Given the description of an element on the screen output the (x, y) to click on. 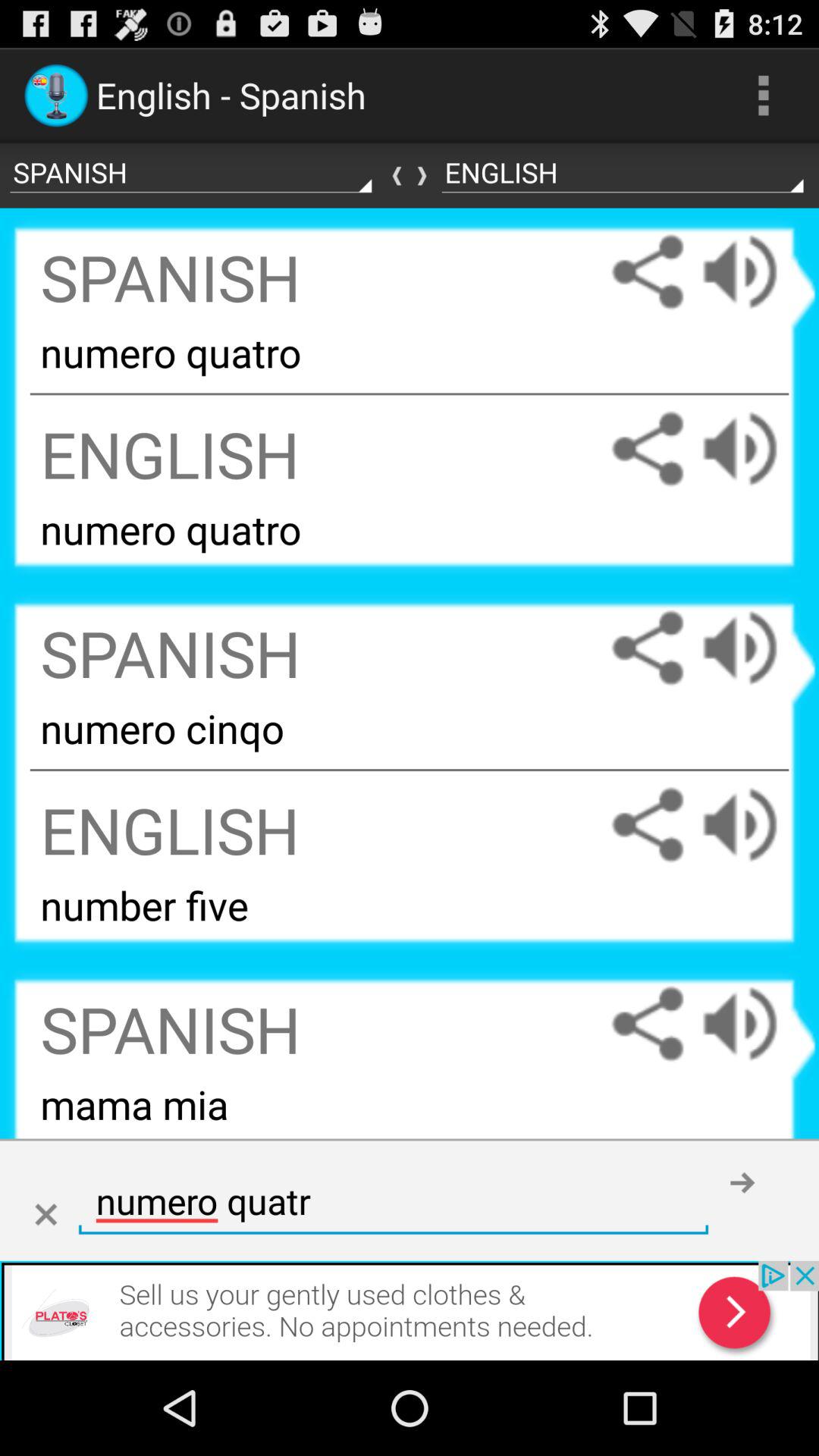
revert languages (409, 175)
